Given the description of an element on the screen output the (x, y) to click on. 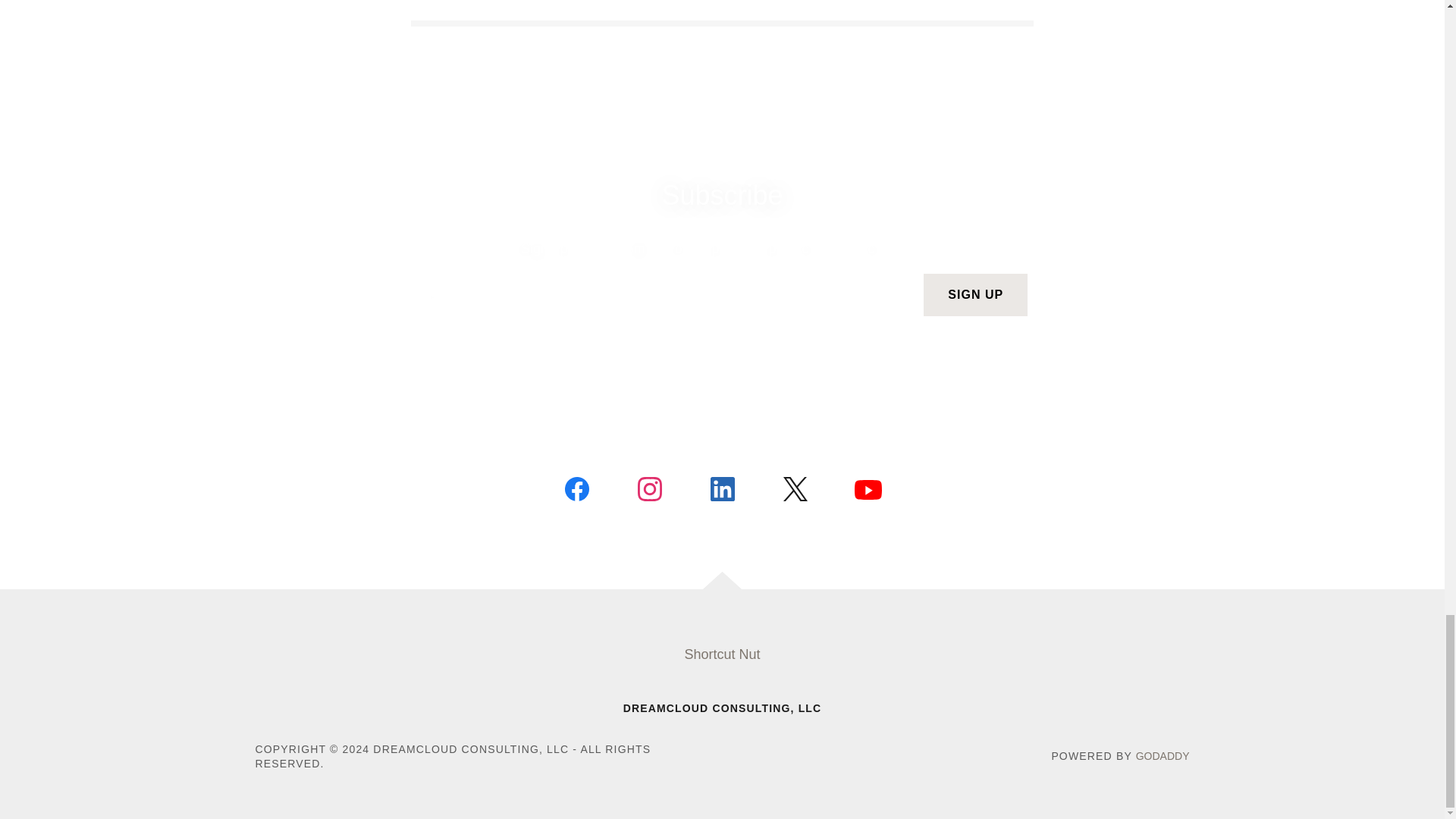
SIGN UP (975, 294)
Shortcut Nut (721, 654)
GODADDY (1162, 756)
